Given the description of an element on the screen output the (x, y) to click on. 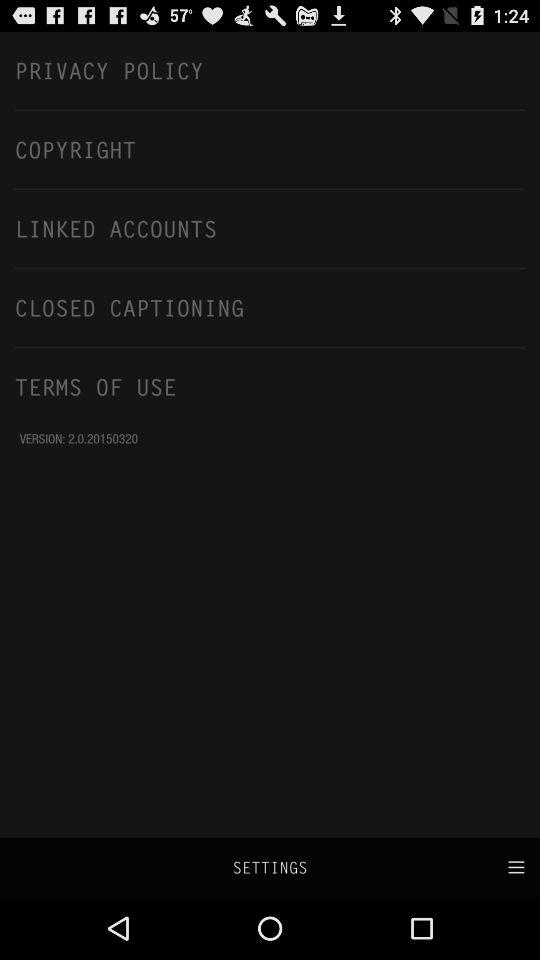
select the closed captioning icon (270, 307)
